Given the description of an element on the screen output the (x, y) to click on. 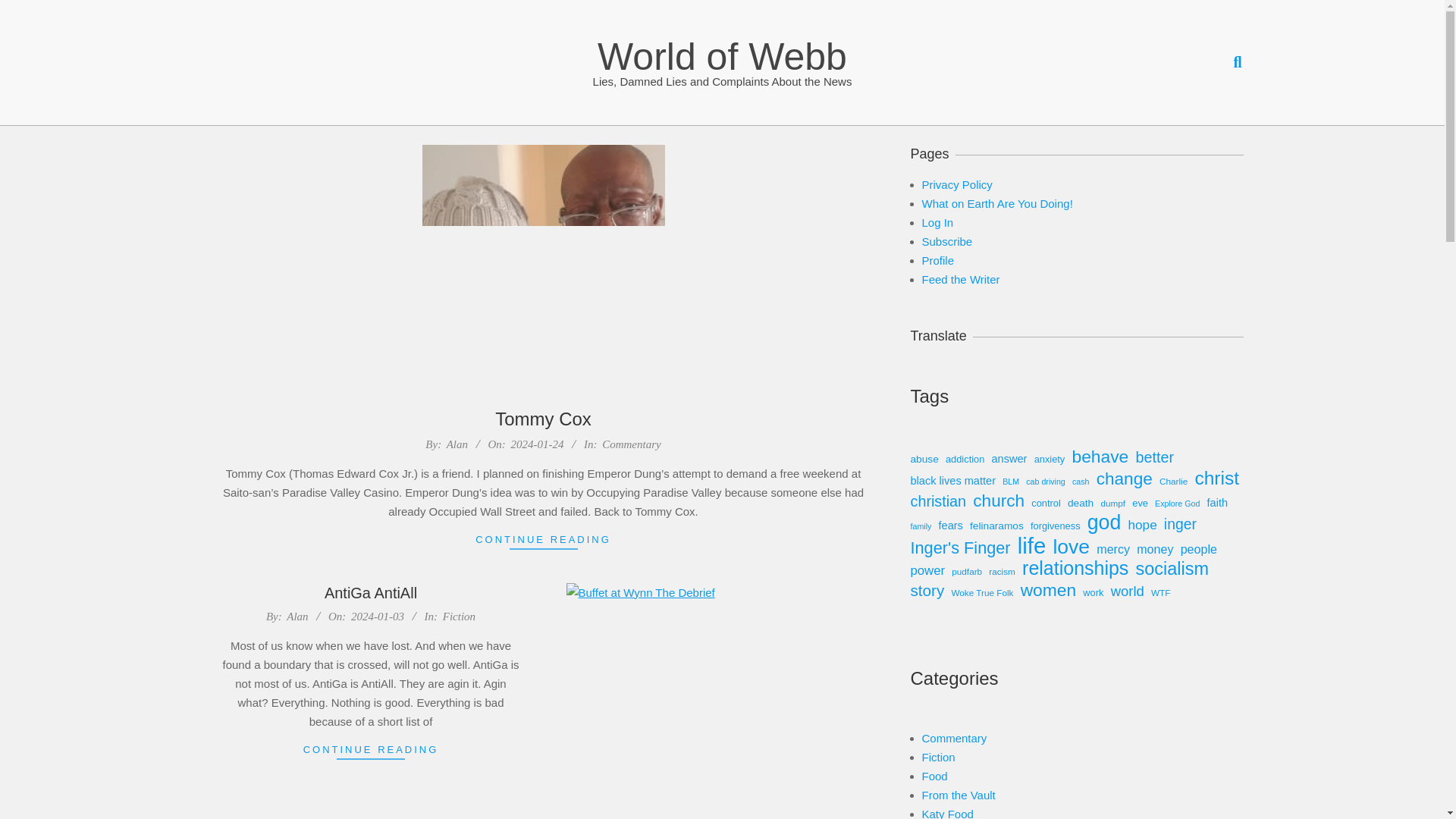
CONTINUE READING (371, 749)
Alan (296, 616)
Alan (456, 444)
World of Webb (721, 56)
Fiction (459, 616)
Posts by Alan (456, 444)
Wednesday, January 24, 2024, 8:55 pm (537, 444)
Search (28, 10)
Wednesday, January 3, 2024, 8:21 pm (377, 616)
CONTINUE READING (543, 538)
Tommy Cox (543, 418)
AntiGa AntiAll (370, 592)
Posts by Alan (296, 616)
Commentary (631, 444)
